Given the description of an element on the screen output the (x, y) to click on. 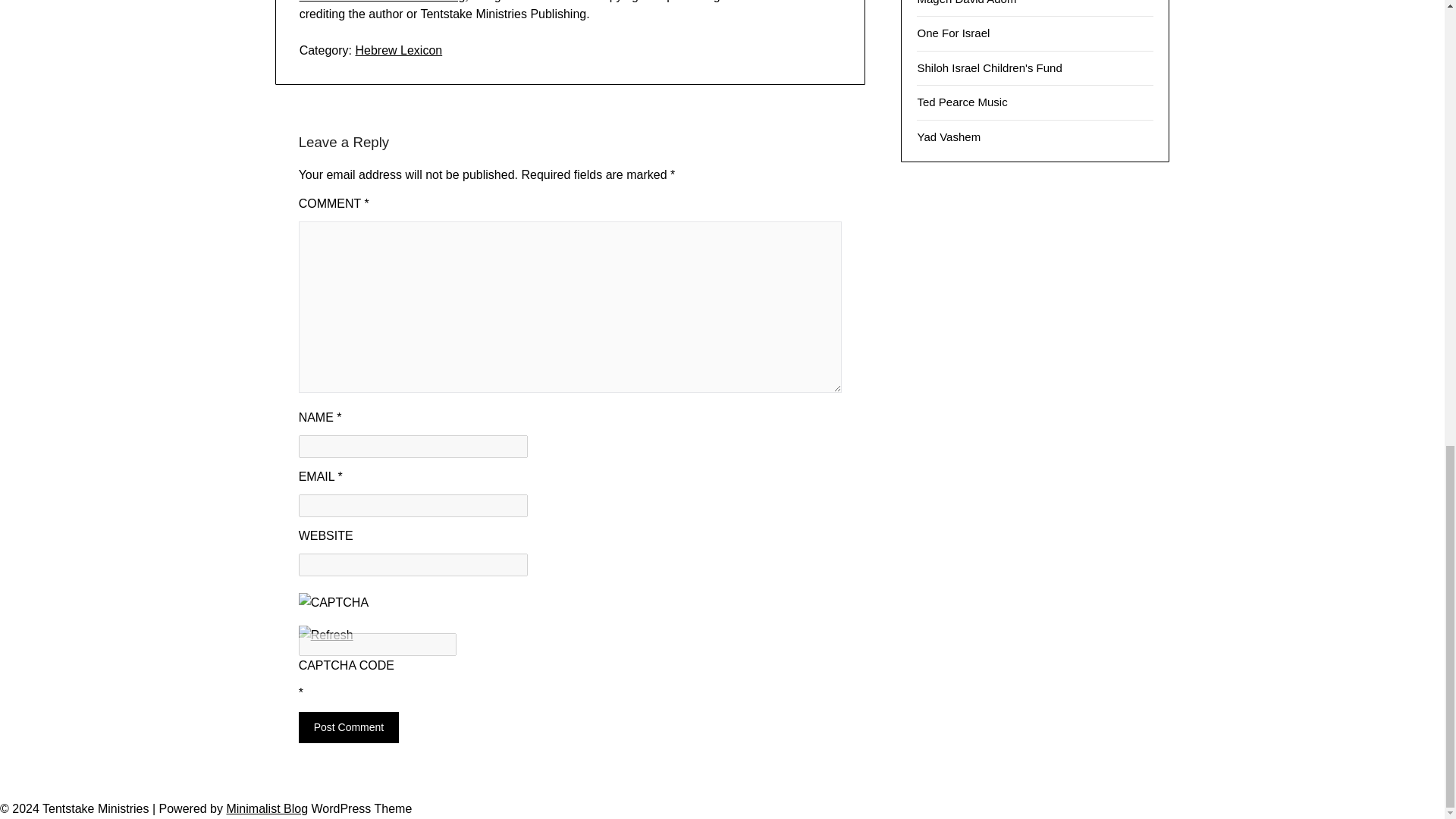
CAPTCHA (348, 608)
Post Comment (348, 726)
Refresh (325, 634)
